Given the description of an element on the screen output the (x, y) to click on. 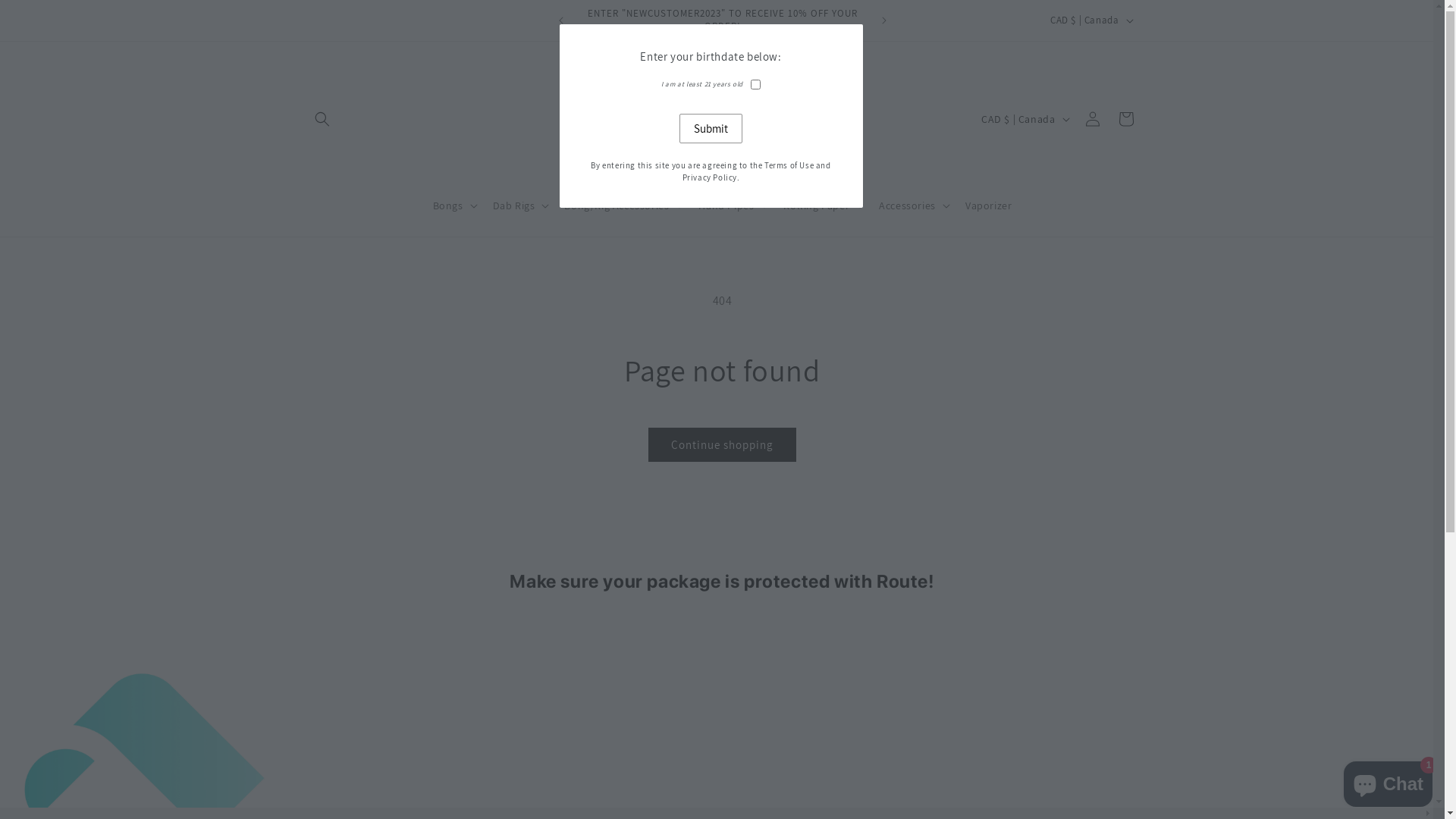
Submit Element type: text (721, 128)
CAD $ | Canada Element type: text (1096, 20)
Continue shopping Element type: text (722, 444)
CAD $ | Canada Element type: text (1023, 118)
Cart Element type: text (1125, 118)
Vaporizer Element type: text (988, 205)
Shopify online store chat Element type: hover (1388, 780)
Log in Element type: text (1091, 118)
